Given the description of an element on the screen output the (x, y) to click on. 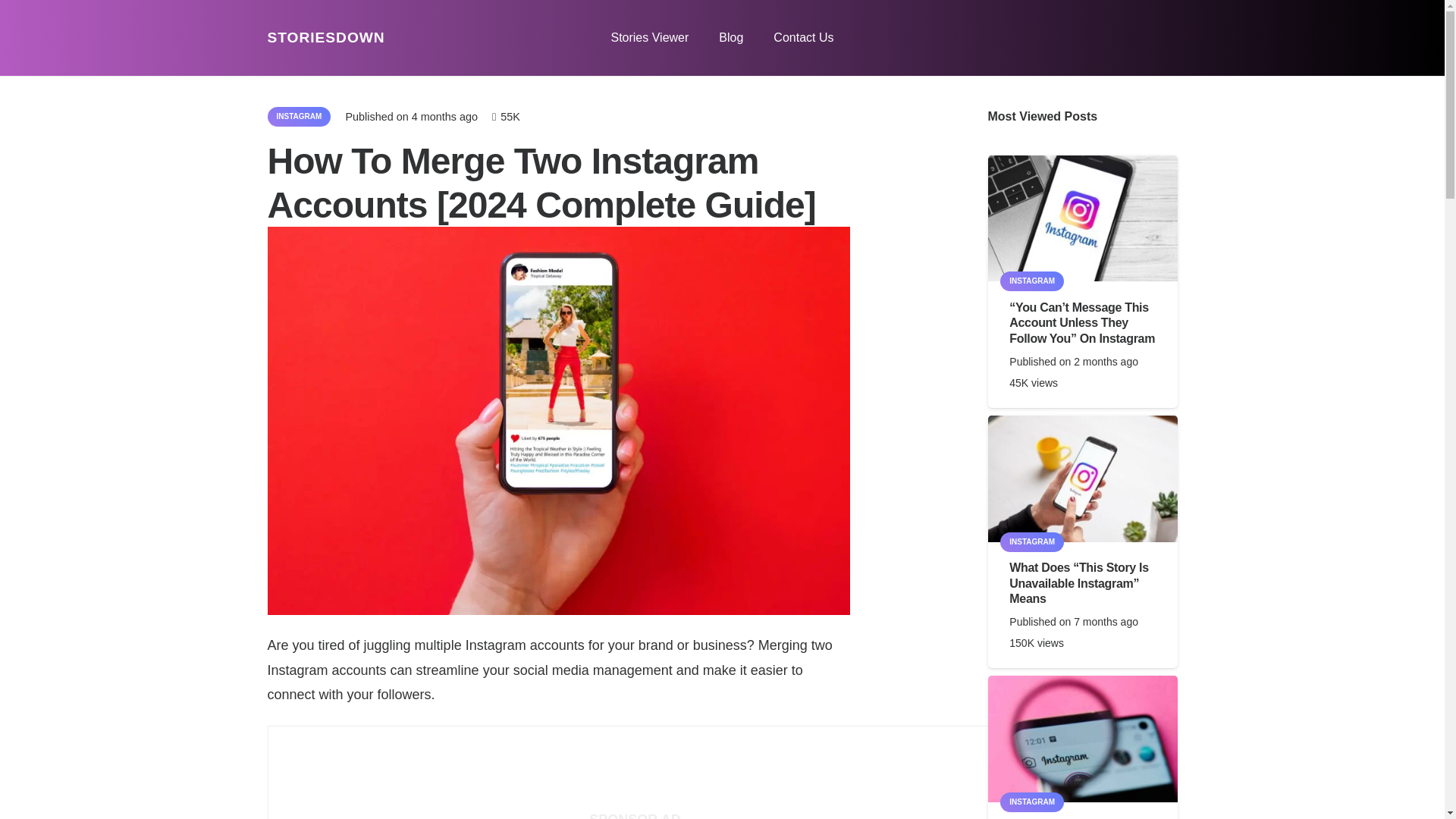
Contact Us (803, 38)
Stories Viewer (649, 38)
INSTAGRAM (1032, 542)
INSTAGRAM (1032, 802)
Privacy Policy (636, 719)
INSTAGRAM (1032, 281)
STORIESDOWN (325, 37)
INSTAGRAM (298, 116)
